Given the description of an element on the screen output the (x, y) to click on. 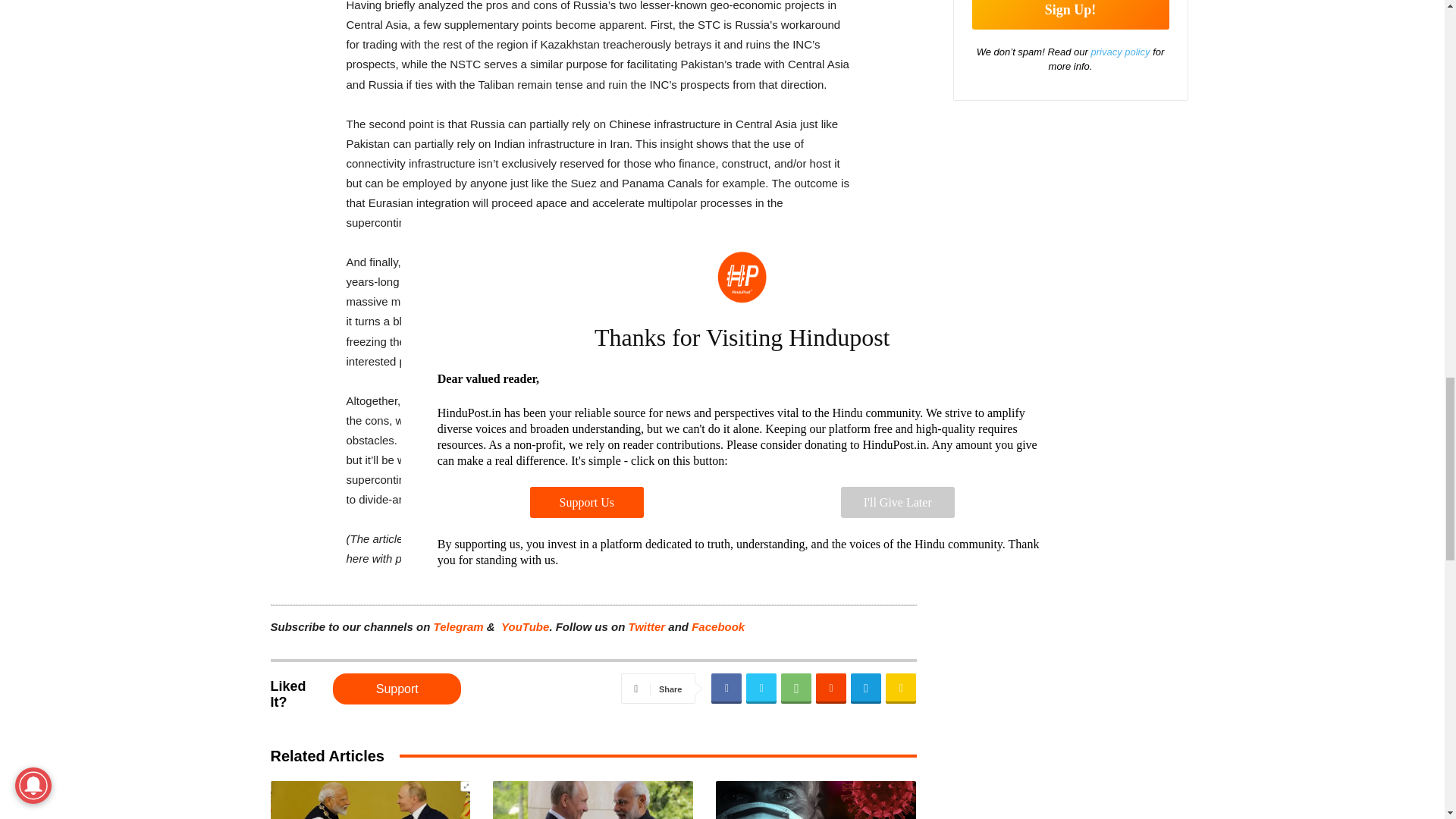
Sign Up! (1070, 14)
